Given the description of an element on the screen output the (x, y) to click on. 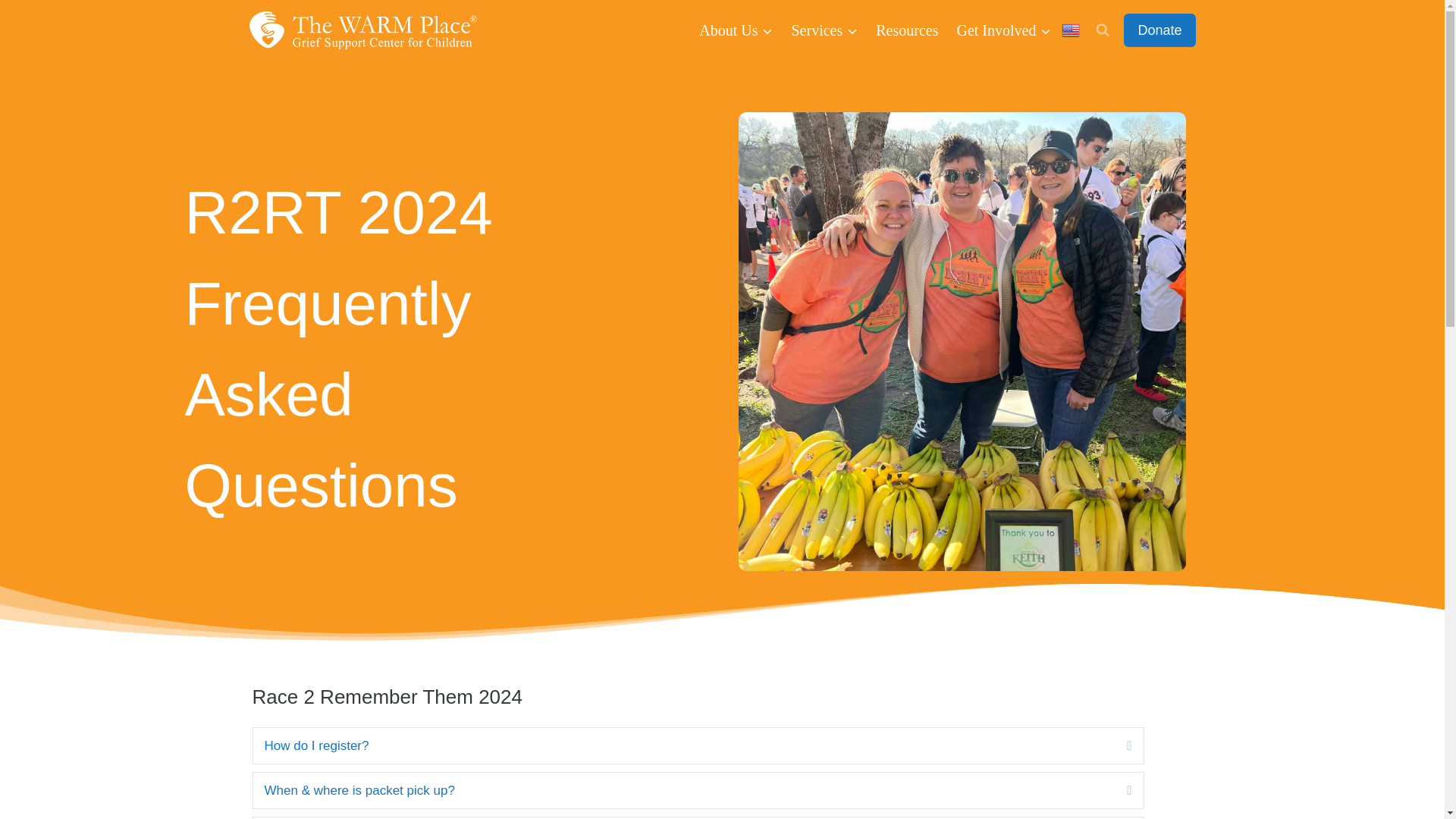
About Us (735, 30)
Get Involved (1003, 30)
Services (825, 30)
Resources (906, 30)
Expand (1117, 745)
Donate (1159, 29)
Expand (1117, 790)
How do I register? (683, 745)
